Given the description of an element on the screen output the (x, y) to click on. 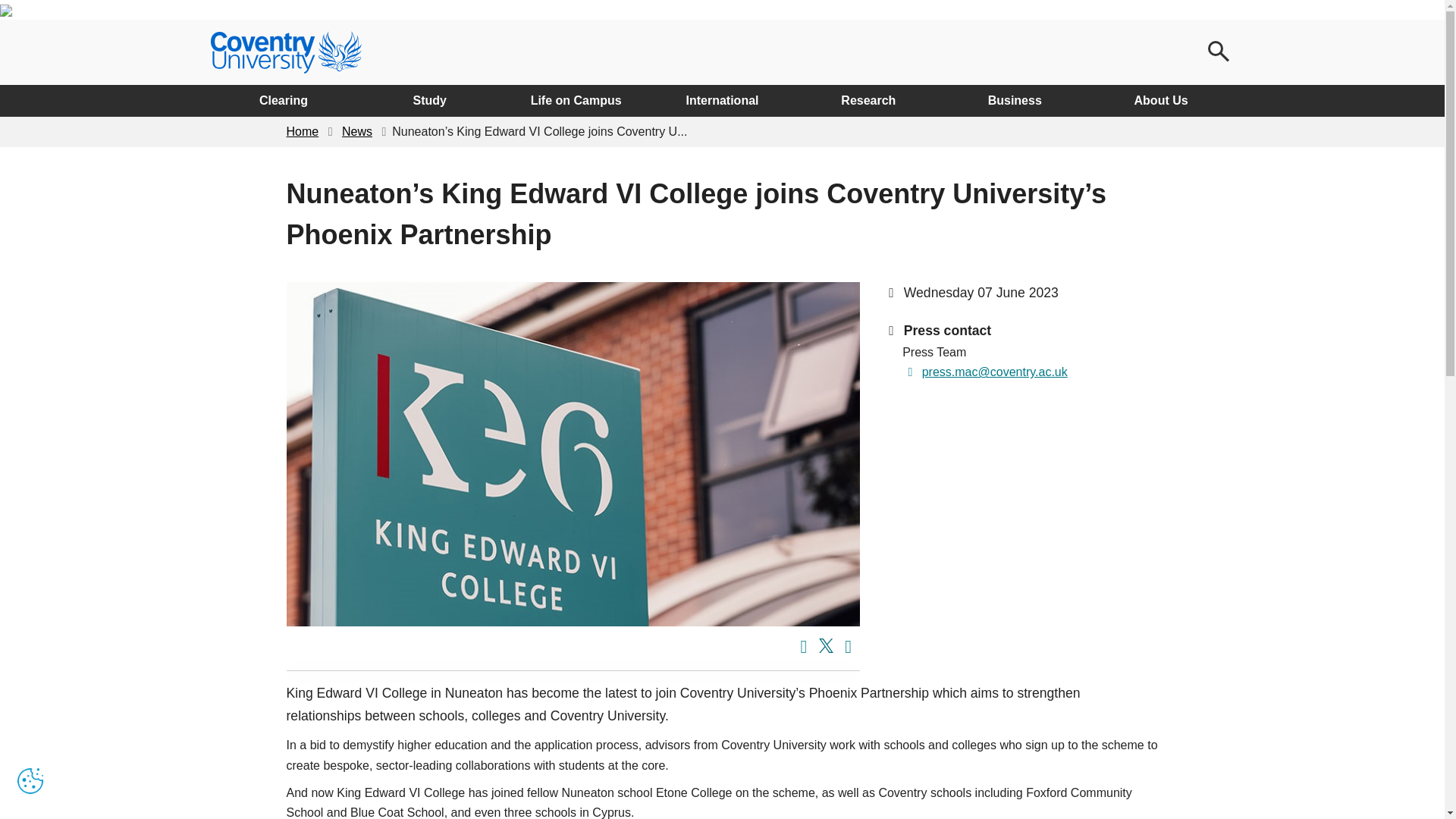
Study (429, 101)
Coventry University (286, 52)
Life on Campus (575, 101)
Clearing (283, 101)
